Given the description of an element on the screen output the (x, y) to click on. 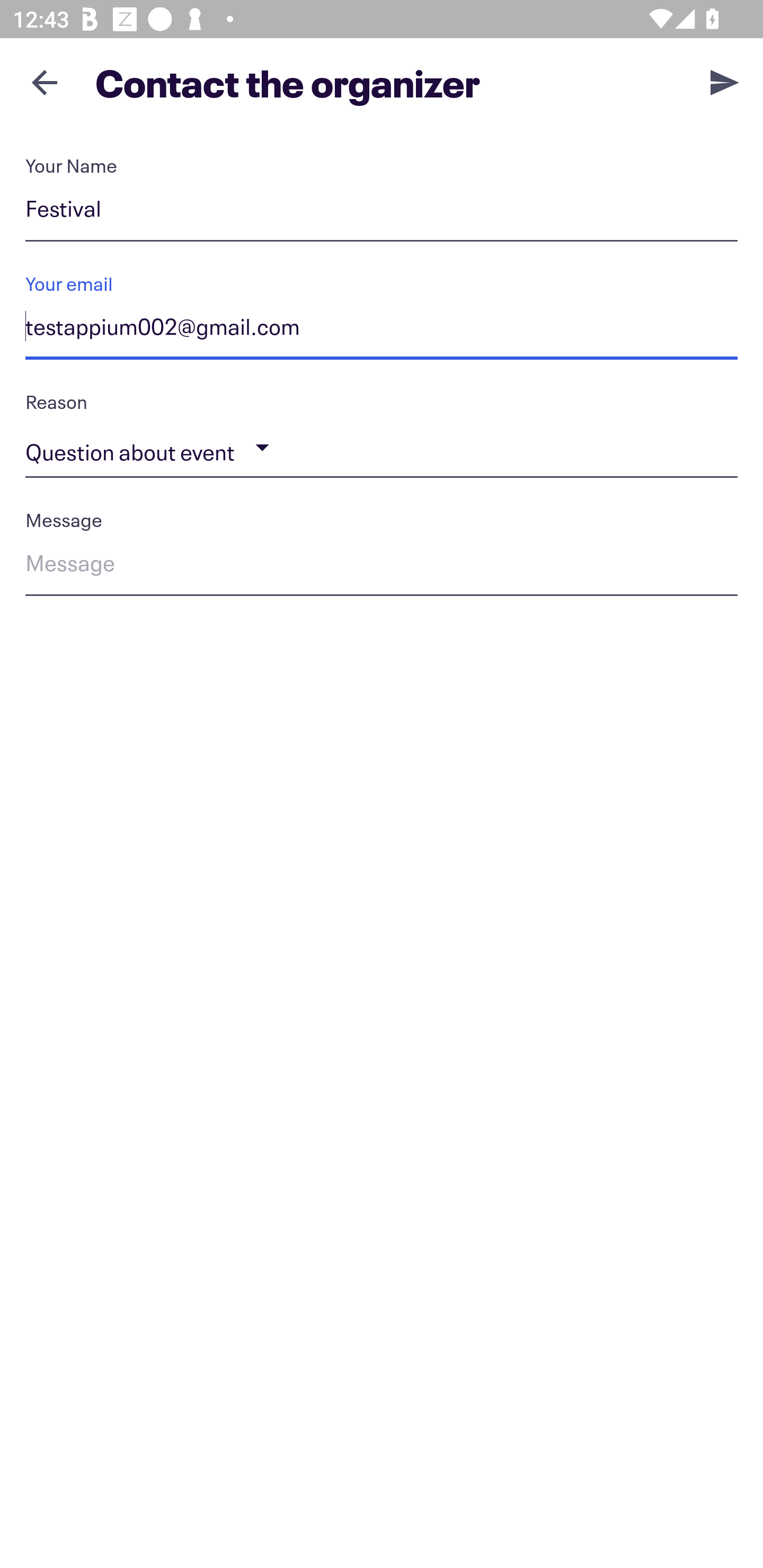
Navigate up (44, 82)
Send (724, 81)
Festival (381, 211)
testappium002@gmail.com (381, 329)
Question about event    (381, 447)
Message (381, 565)
